Given the description of an element on the screen output the (x, y) to click on. 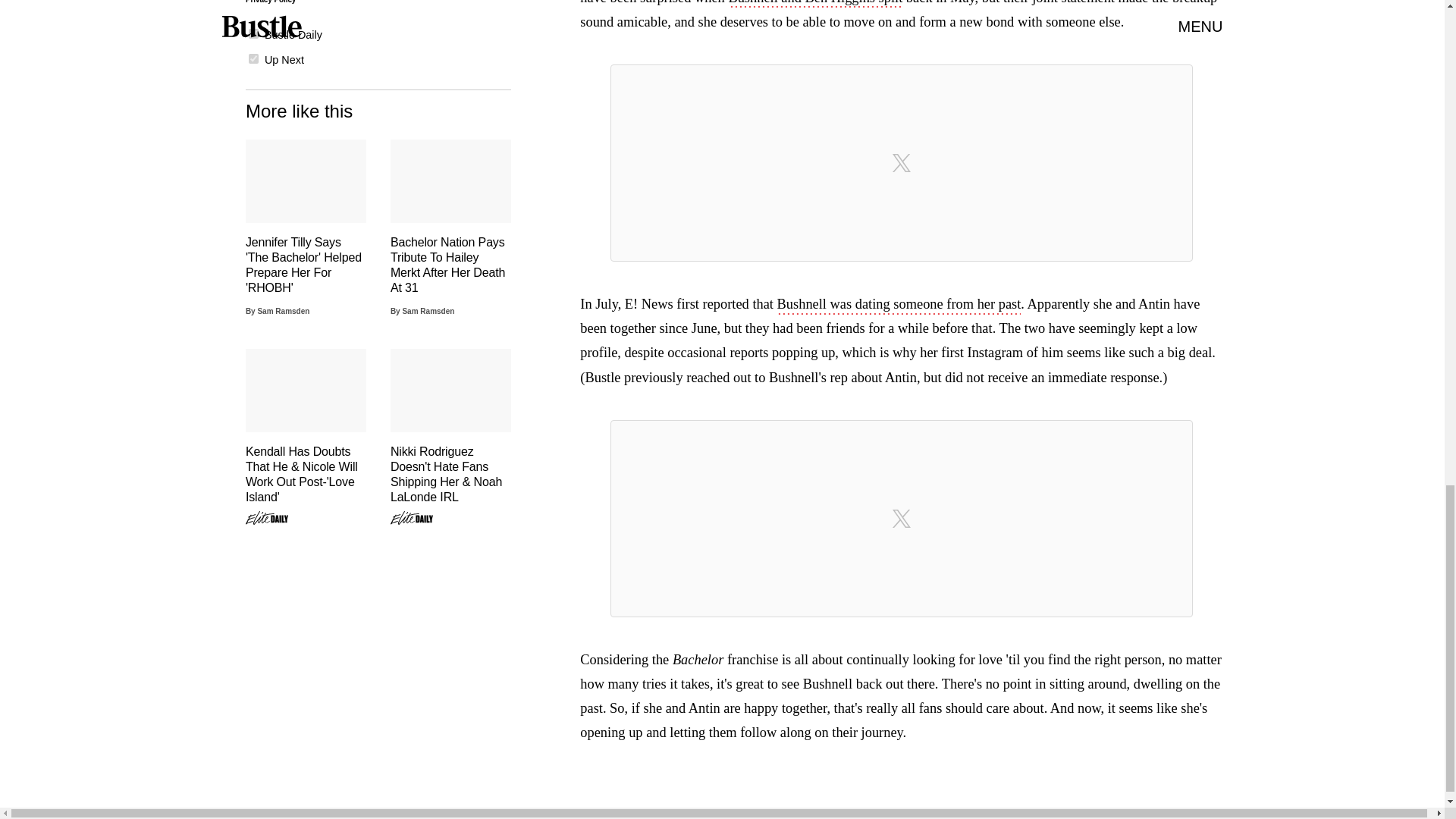
Bushnell and Ben Higgins split (815, 4)
Privacy Policy (270, 2)
Bushnell was dating someone from her past (899, 305)
